Given the description of an element on the screen output the (x, y) to click on. 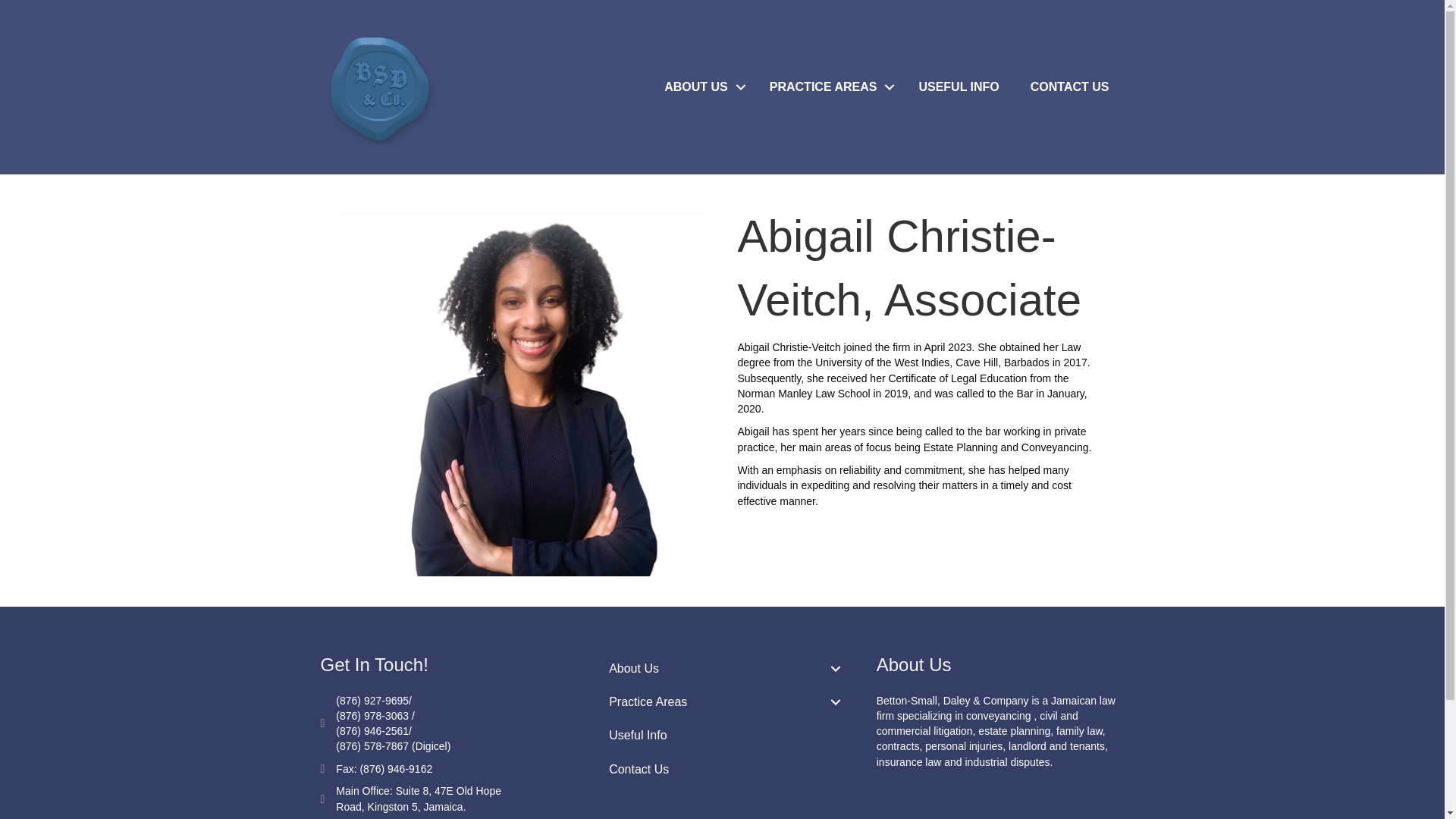
CONTACT US (1069, 86)
Useful Info (721, 735)
USEFUL INFO (957, 86)
About Us (721, 667)
PRACTICE AREAS (828, 86)
Practice Areas (721, 701)
Contact Us (721, 768)
ABOUT US (701, 86)
